Given the description of an element on the screen output the (x, y) to click on. 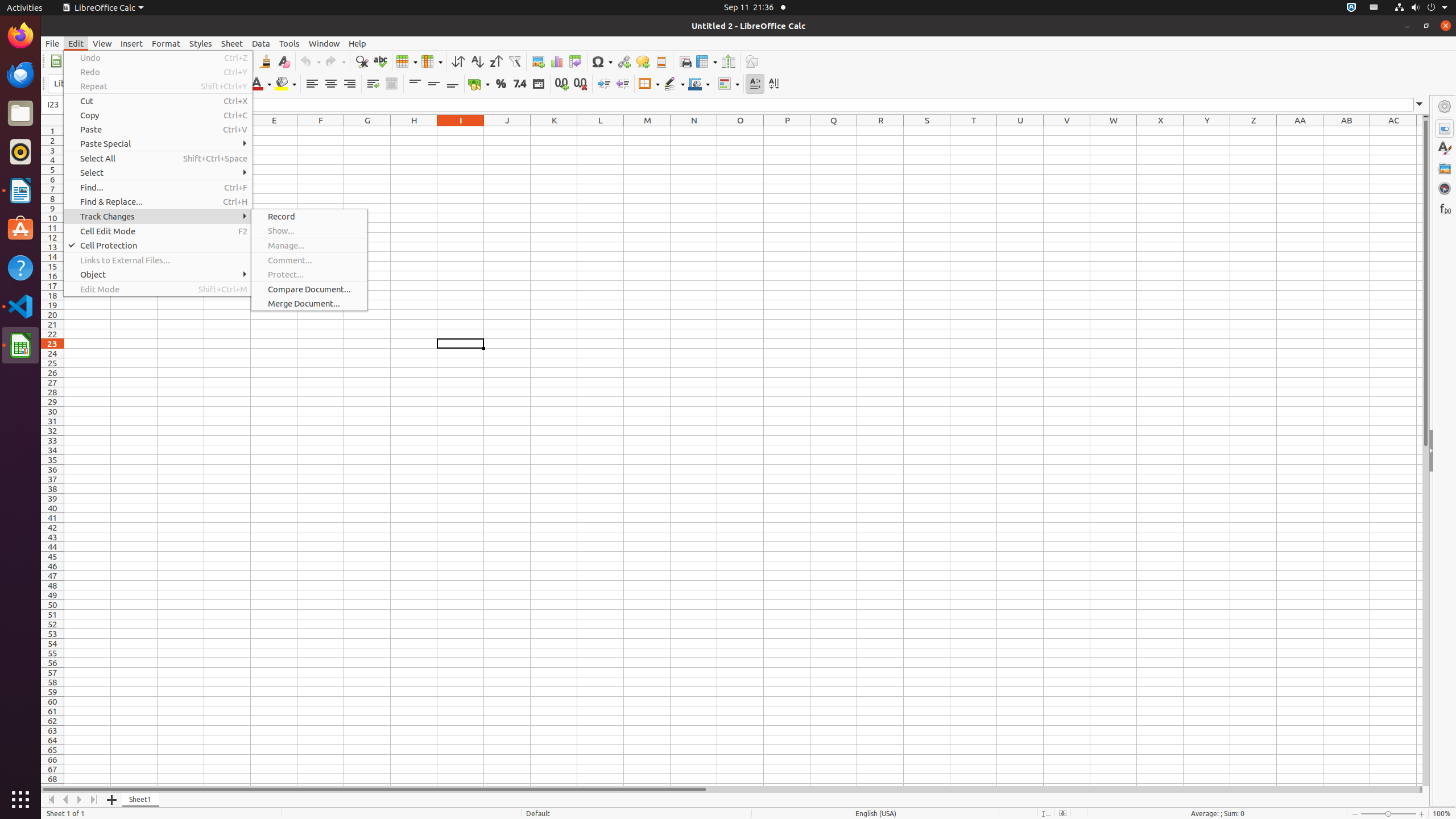
Properties Element type: radio-button (1444, 128)
View Element type: menu (102, 43)
U1 Element type: table-cell (1020, 130)
Edit Element type: menu (75, 43)
Split Window Element type: push-button (727, 61)
